Given the description of an element on the screen output the (x, y) to click on. 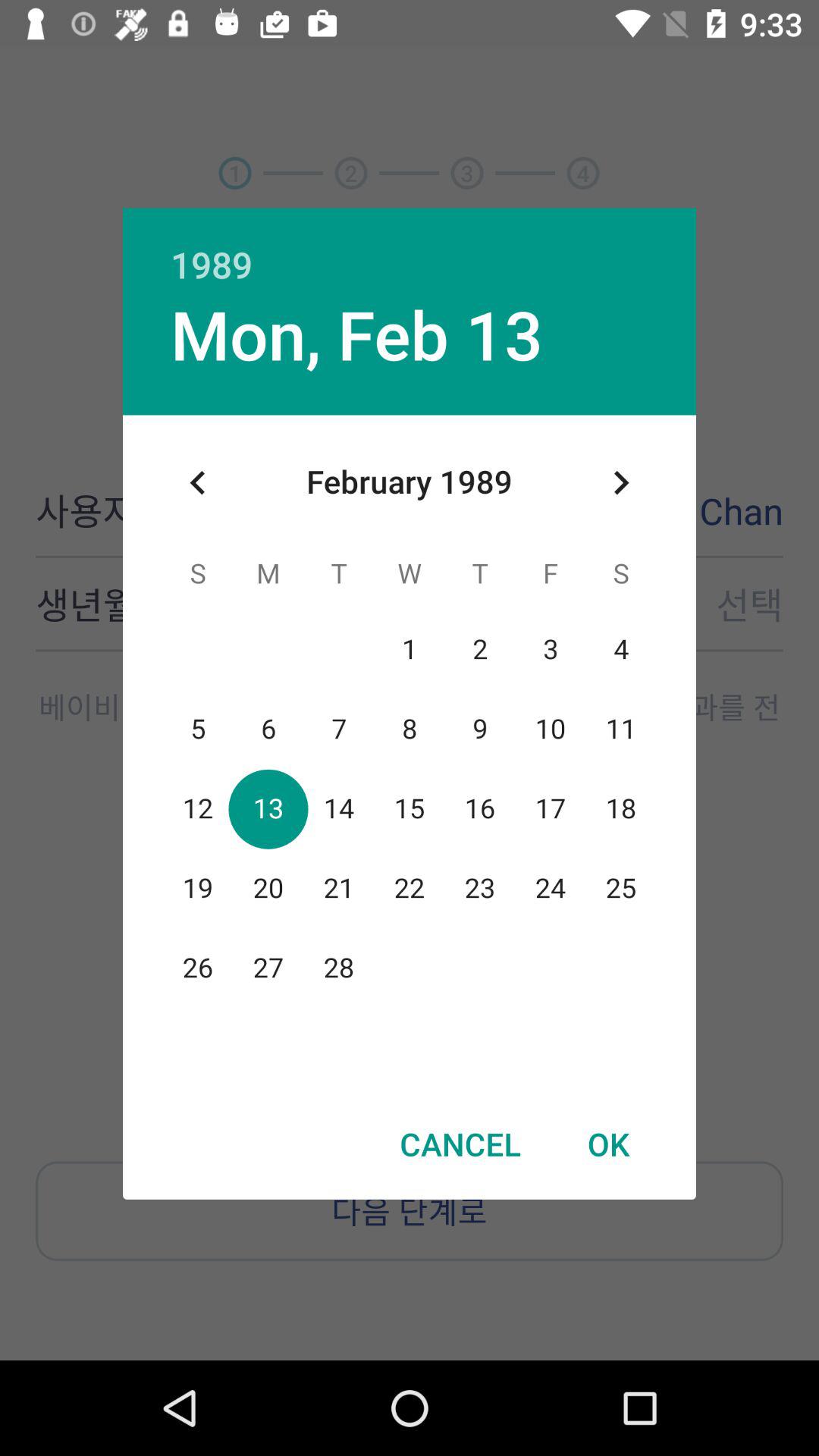
tap 1989 (409, 248)
